Given the description of an element on the screen output the (x, y) to click on. 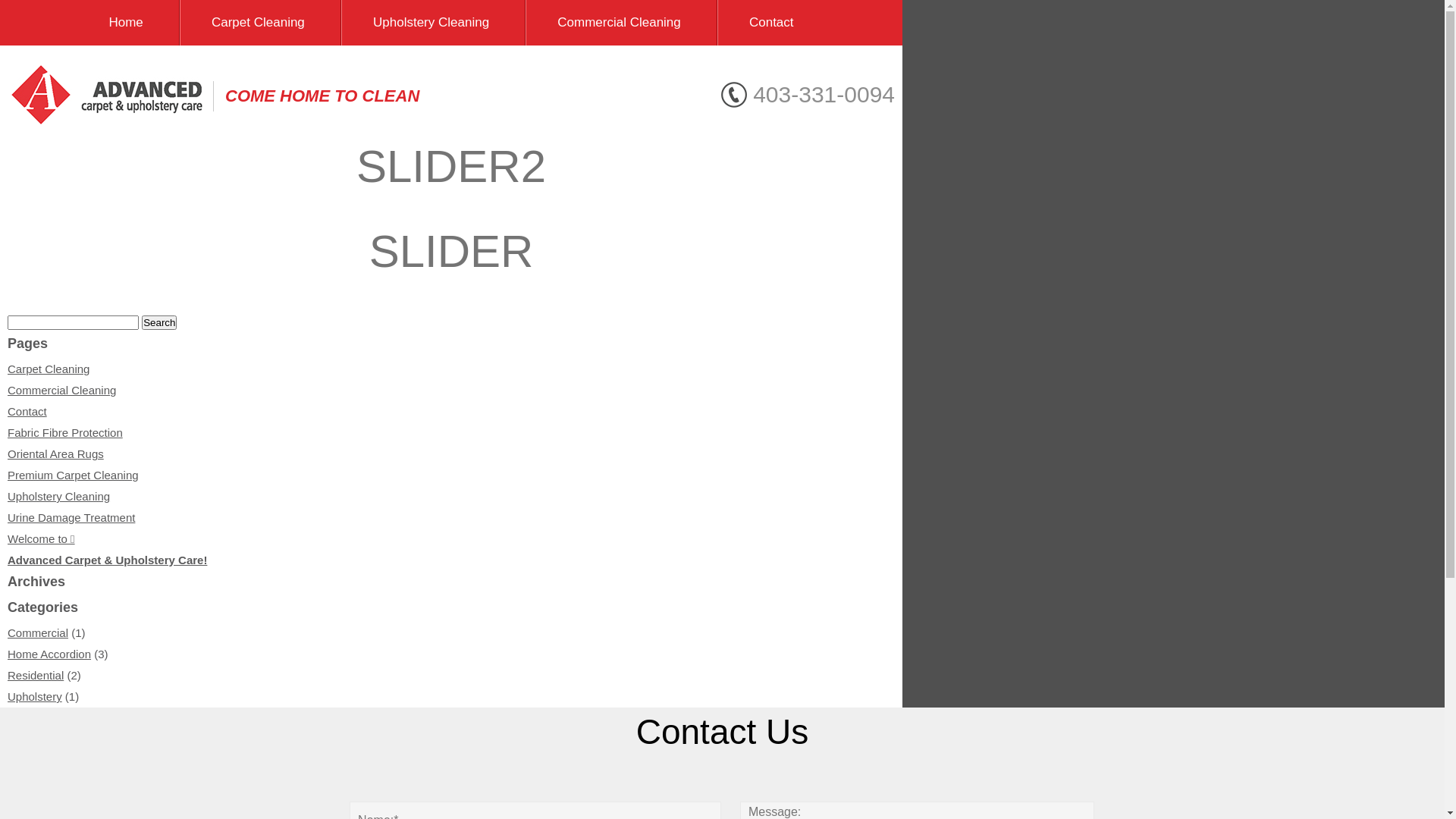
Oriental Area Rugs Element type: text (55, 453)
Carpet Cleaning Element type: text (48, 368)
Residential Element type: text (35, 674)
Fabric Fibre Protection Element type: text (64, 432)
Commercial Cleaning Element type: text (618, 22)
Commercial Cleaning Element type: text (61, 389)
Contact Element type: text (27, 410)
Commercial Element type: text (37, 632)
Home Element type: text (125, 22)
Home Accordion Element type: text (49, 653)
Contact Element type: text (771, 22)
Search Element type: text (158, 322)
Upholstery Element type: text (34, 696)
Carpet Cleaning Element type: text (257, 22)
Premium Carpet Cleaning Element type: text (72, 474)
Upholstery Cleaning Element type: text (431, 22)
Urine Damage Treatment Element type: text (70, 517)
Upholstery Cleaning Element type: text (58, 495)
Welcome to 
Advanced Carpet & Upholstery Care! Element type: text (107, 549)
